Given the description of an element on the screen output the (x, y) to click on. 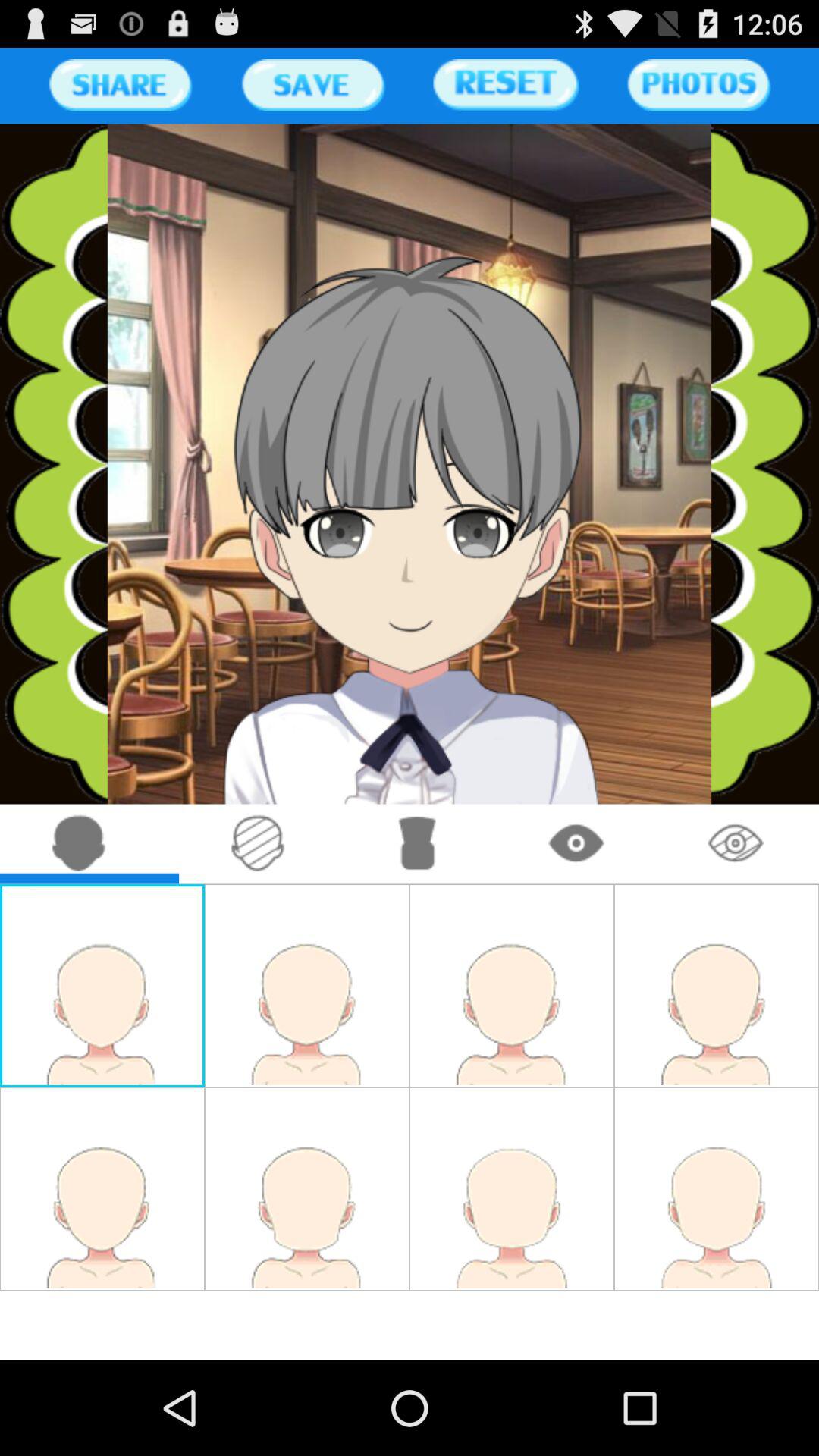
choose facial shape (79, 843)
